Given the description of an element on the screen output the (x, y) to click on. 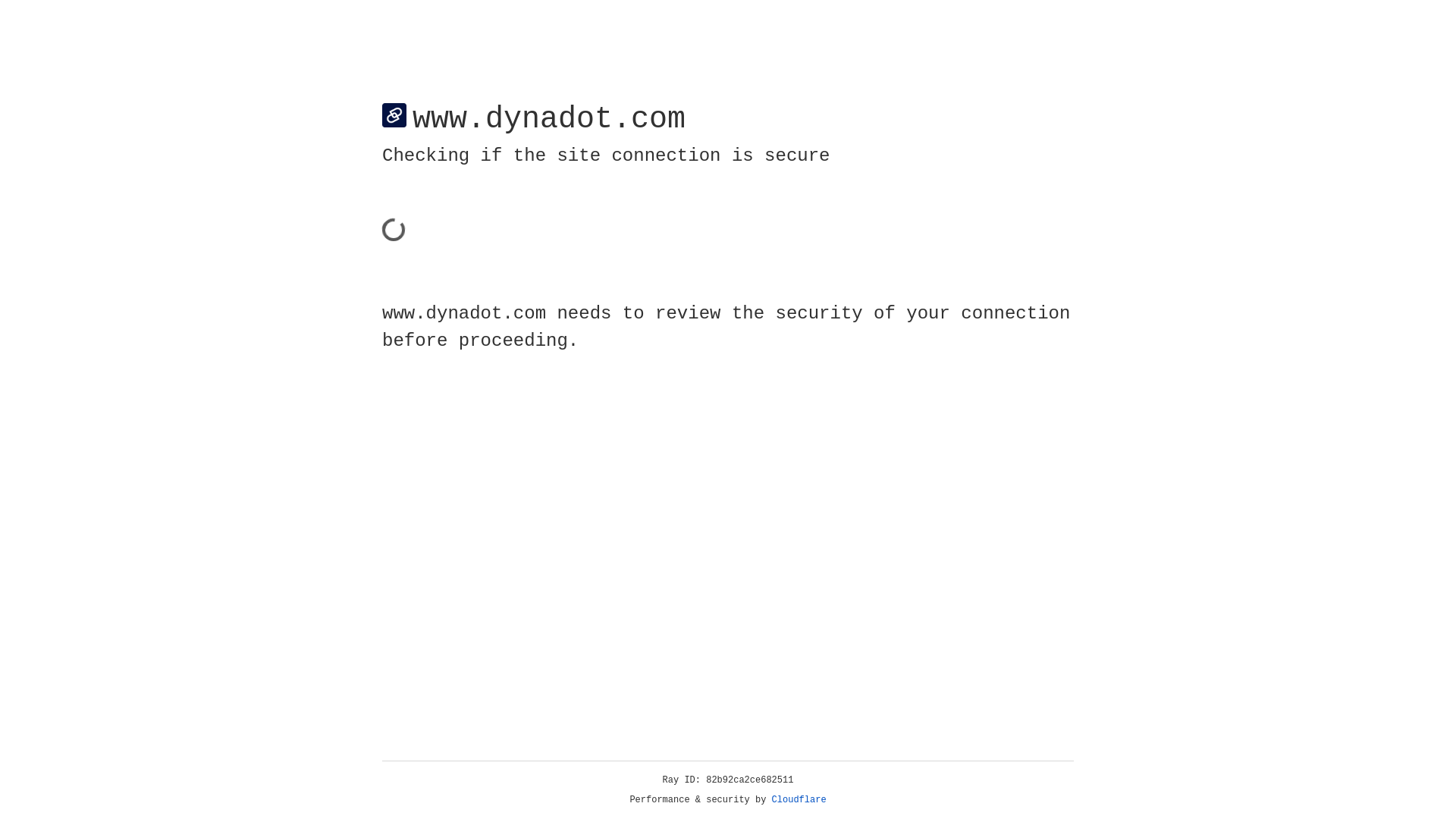
Cloudflare Element type: text (798, 799)
